Given the description of an element on the screen output the (x, y) to click on. 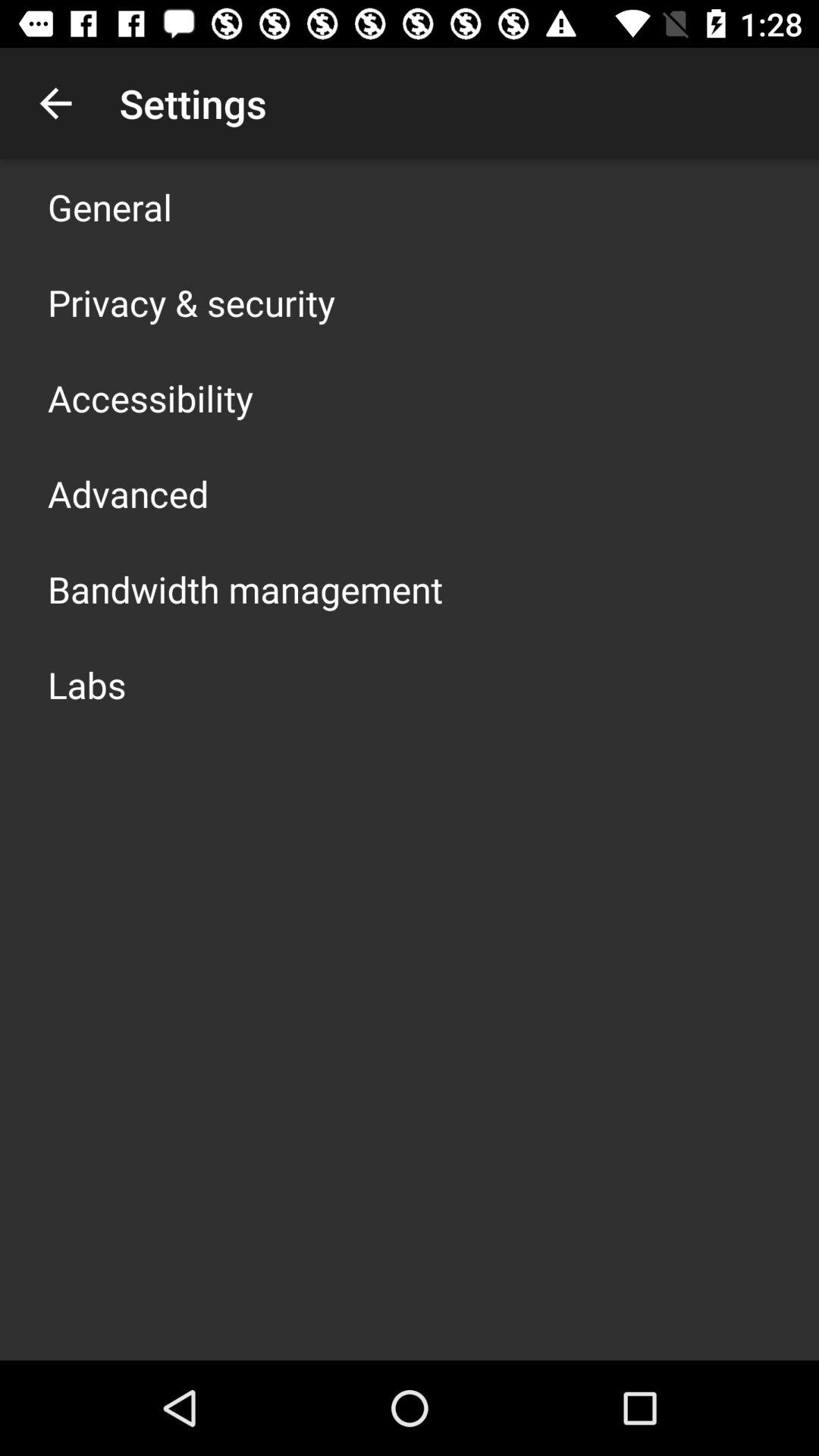
launch item to the left of the settings (55, 103)
